Given the description of an element on the screen output the (x, y) to click on. 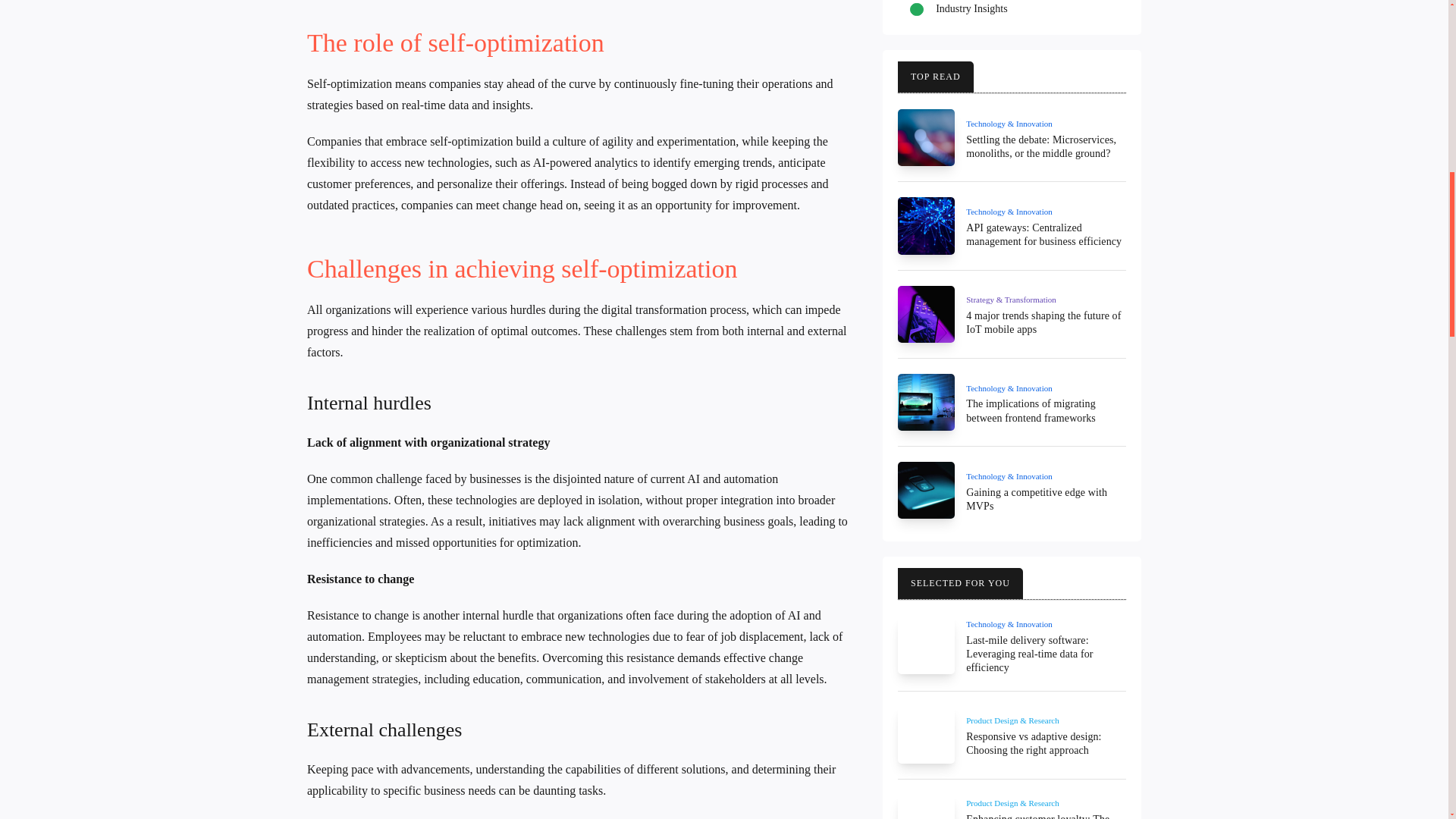
Image-12 (926, 137)
TOP READ (936, 76)
Industry Insights (971, 8)
API gateways: Centralized management for business efficiency (1043, 234)
